Given the description of an element on the screen output the (x, y) to click on. 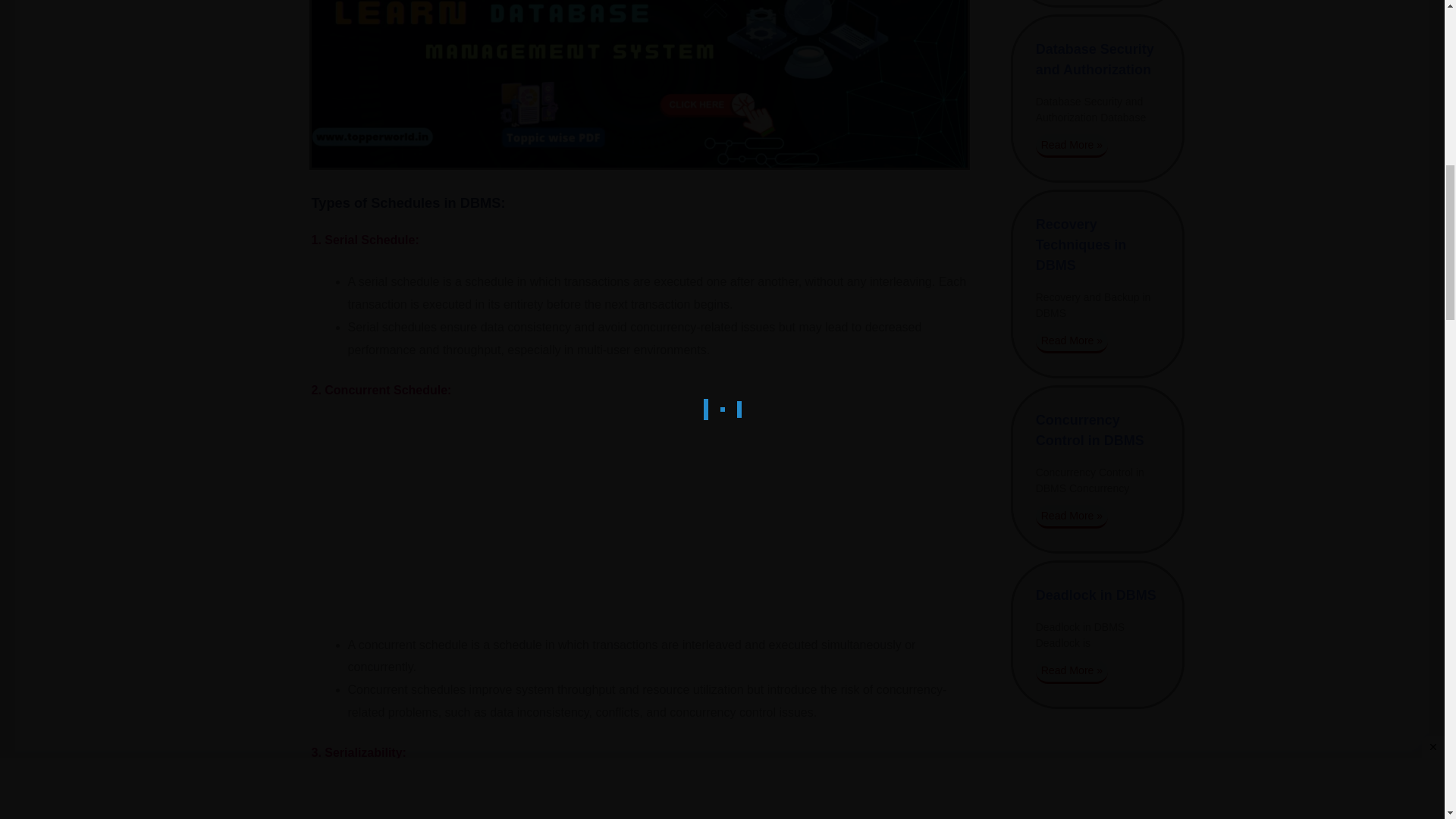
Database Security and Authorization (1094, 58)
Concurrency Control in DBMS (1089, 429)
Deadlock in DBMS (1095, 595)
Recovery Techniques in DBMS (1080, 244)
